Given the description of an element on the screen output the (x, y) to click on. 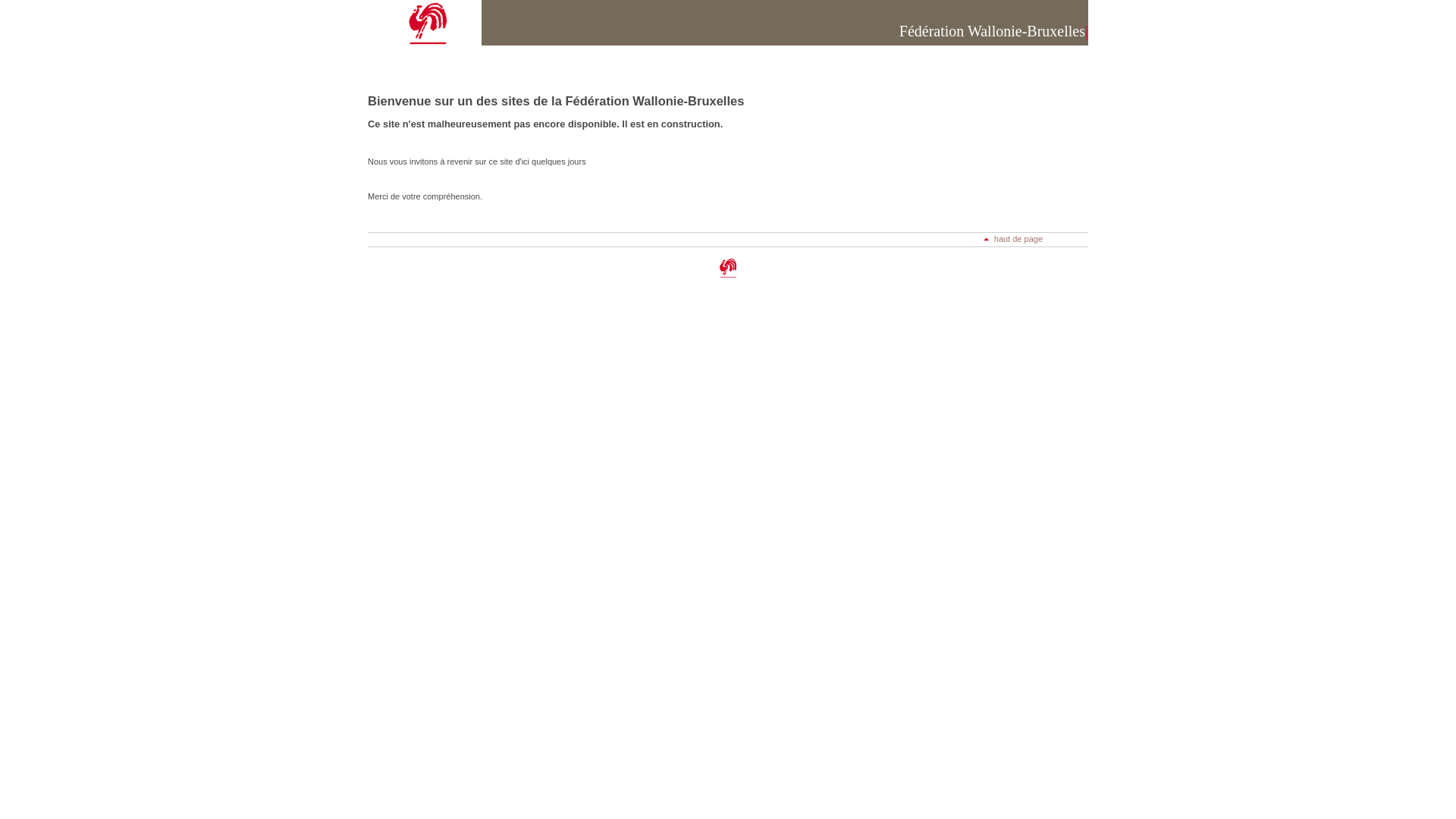
haut de page Element type: text (1012, 238)
